Given the description of an element on the screen output the (x, y) to click on. 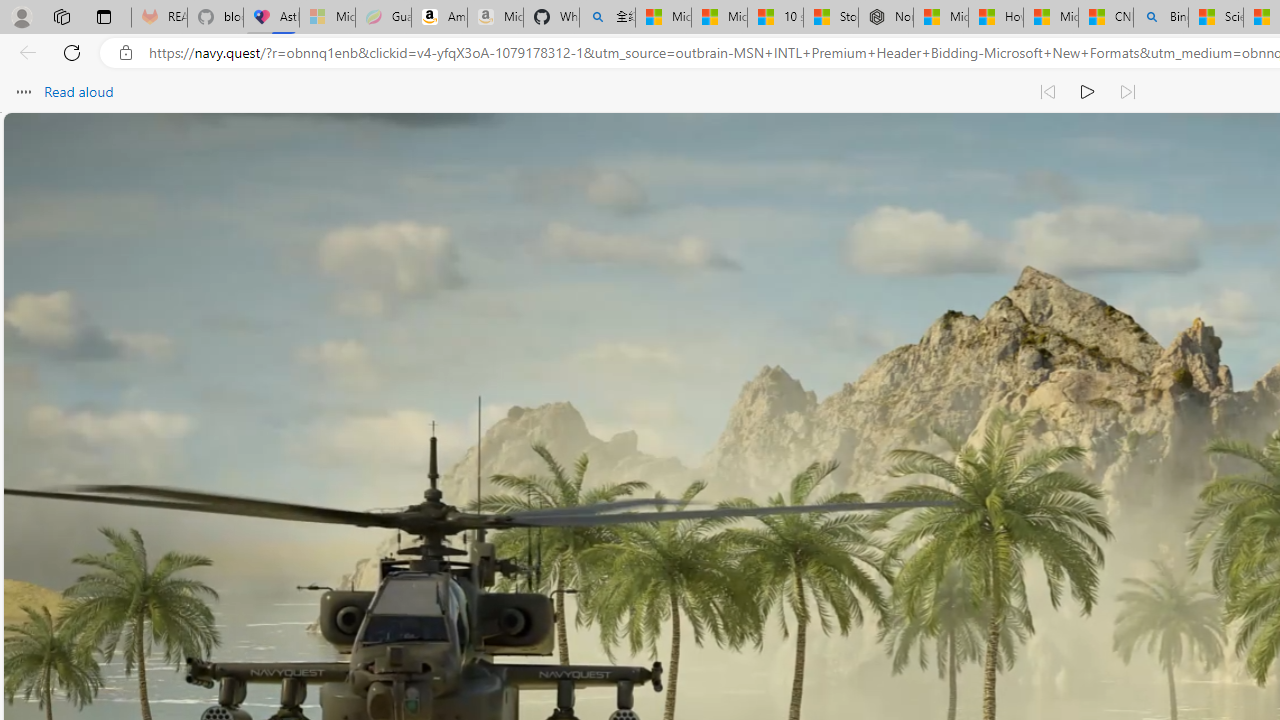
Nordace - Nordace Siena Is Not An Ordinary Backpack (885, 17)
Read previous paragraph (1047, 92)
Stocks - MSN (830, 17)
Read next paragraph (1128, 92)
How I Got Rid of Microsoft Edge's Unnecessary Features (995, 17)
